Given the description of an element on the screen output the (x, y) to click on. 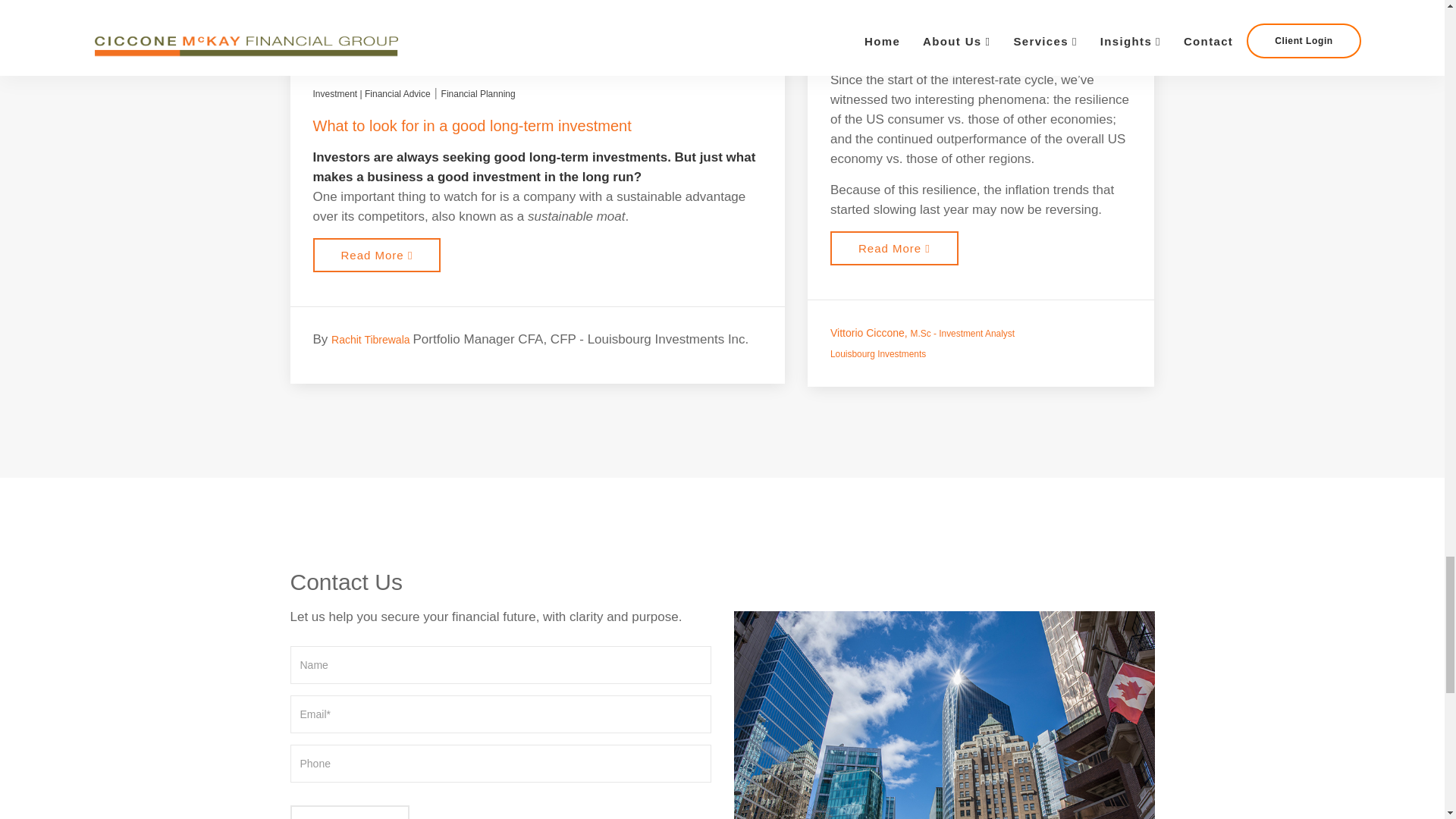
What to look for in a good long-term investment (377, 254)
Rachit Tibrewala (371, 339)
What to look for in a good long-term investment (471, 125)
Financial Planning (478, 94)
What to look for in a good long-term investment (471, 125)
Read More (377, 254)
